Given the description of an element on the screen output the (x, y) to click on. 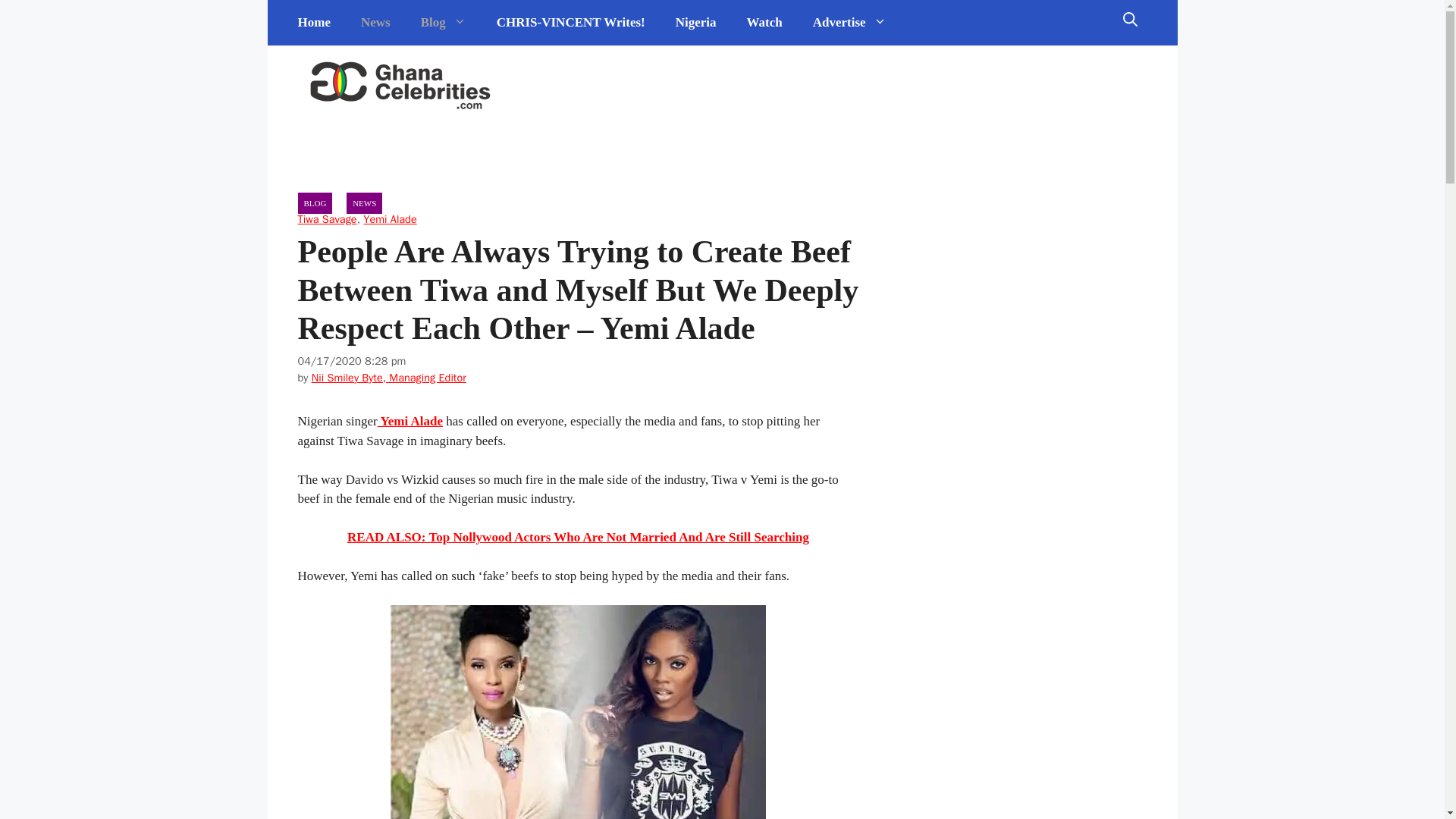
Home (313, 22)
Nigeria (696, 22)
GhanaCelebrities.Com (400, 86)
Watch (764, 22)
News (376, 22)
Advertise (849, 22)
Blog (443, 22)
CHRIS-VINCENT Writes! (571, 22)
View all posts by Nii Smiley Byte, Managing Editor (388, 377)
